Given the description of an element on the screen output the (x, y) to click on. 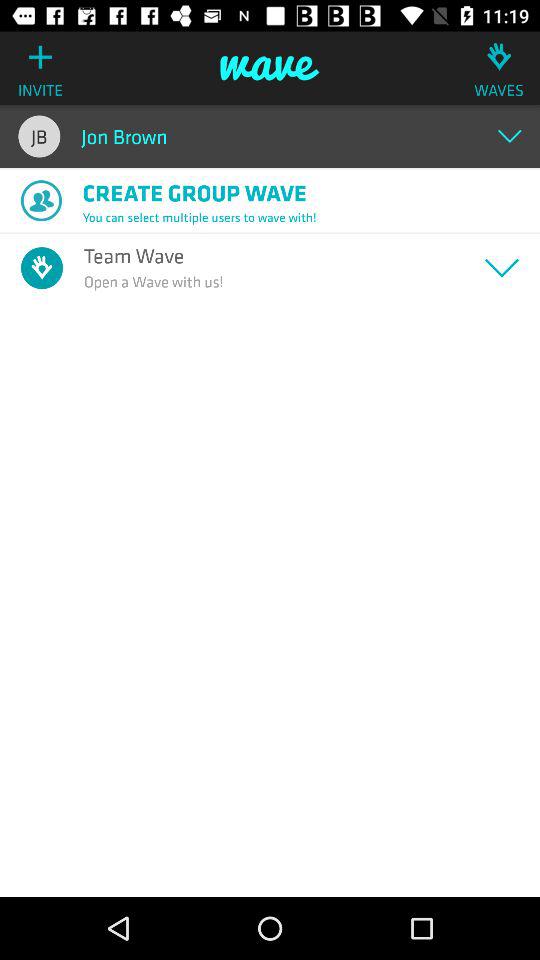
press the icon next to waves (269, 68)
